Given the description of an element on the screen output the (x, y) to click on. 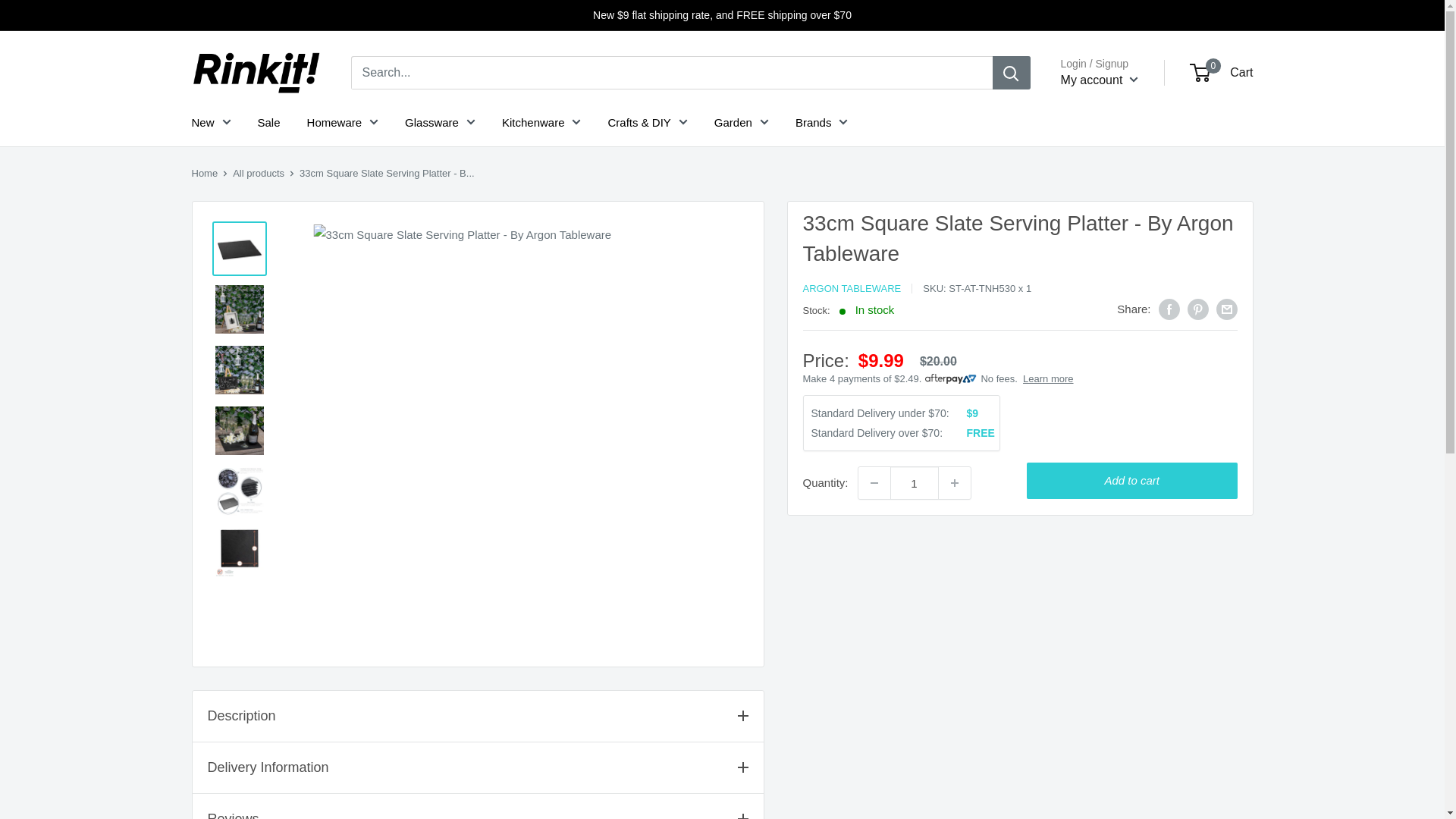
Increase quantity by 1 (955, 482)
Decrease quantity by 1 (874, 482)
1 (914, 482)
